Given the description of an element on the screen output the (x, y) to click on. 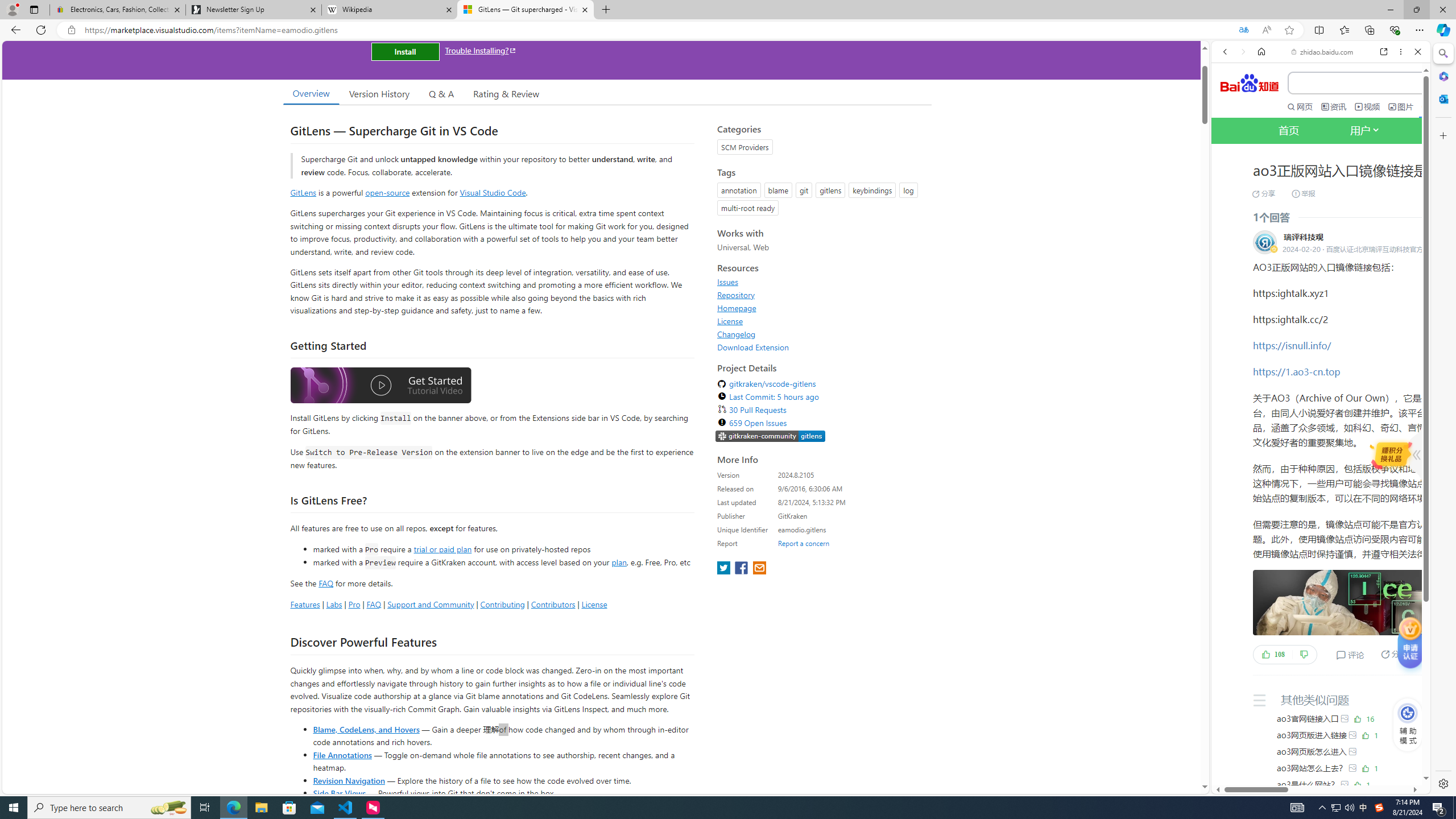
Minimize (1390, 9)
VIDEOS (1300, 192)
Revision Navigation (348, 780)
Address and search bar (658, 29)
Search Filter, IMAGES (1262, 192)
